Given the description of an element on the screen output the (x, y) to click on. 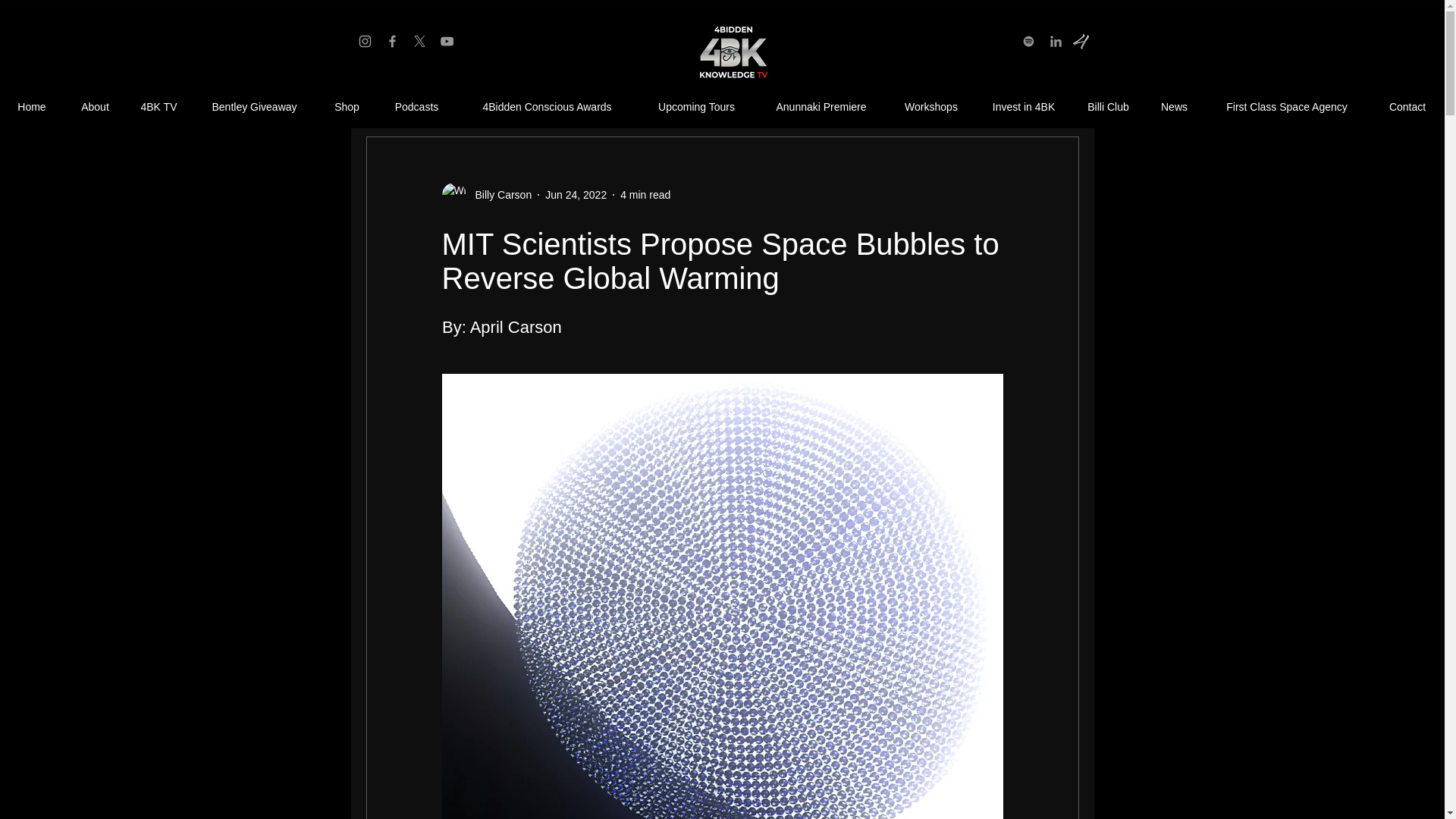
First Class Space Agency (1287, 107)
Anunnaki Premiere (820, 107)
Jun 24, 2022 (575, 193)
Bentley Giveaway (253, 107)
4BiddenKnowledge (731, 52)
4 min read (644, 193)
Billy Carson (498, 194)
Workshops (930, 107)
Billi Club (1107, 107)
Billy Carson (486, 194)
Invest in 4BK (1023, 107)
Home (32, 107)
